Given the description of an element on the screen output the (x, y) to click on. 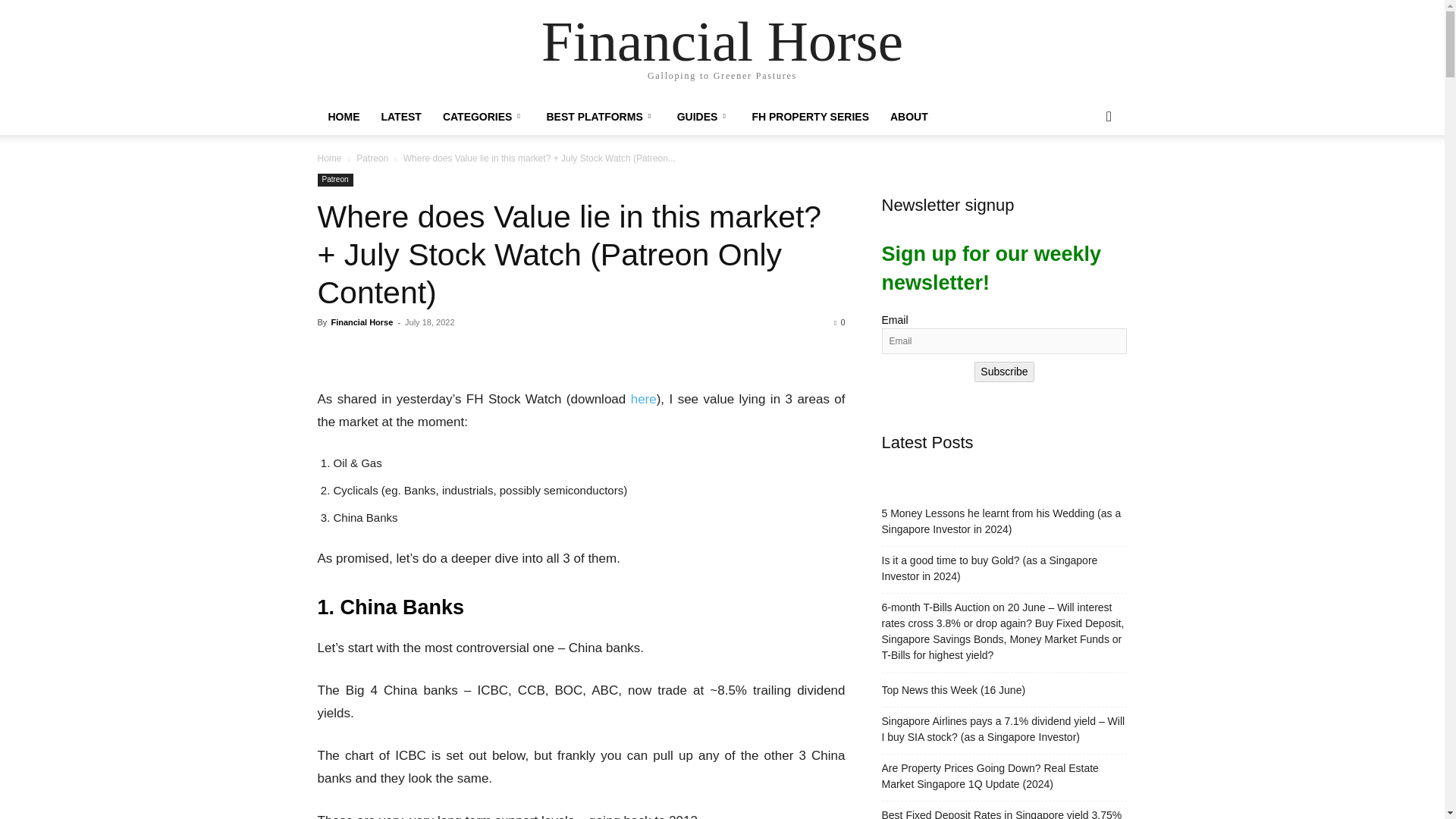
LATEST (399, 116)
HOME (343, 116)
Financial Horse Galloping to Greener Pastures (721, 50)
CATEGORIES (483, 116)
View all posts in Patreon (372, 158)
